Given the description of an element on the screen output the (x, y) to click on. 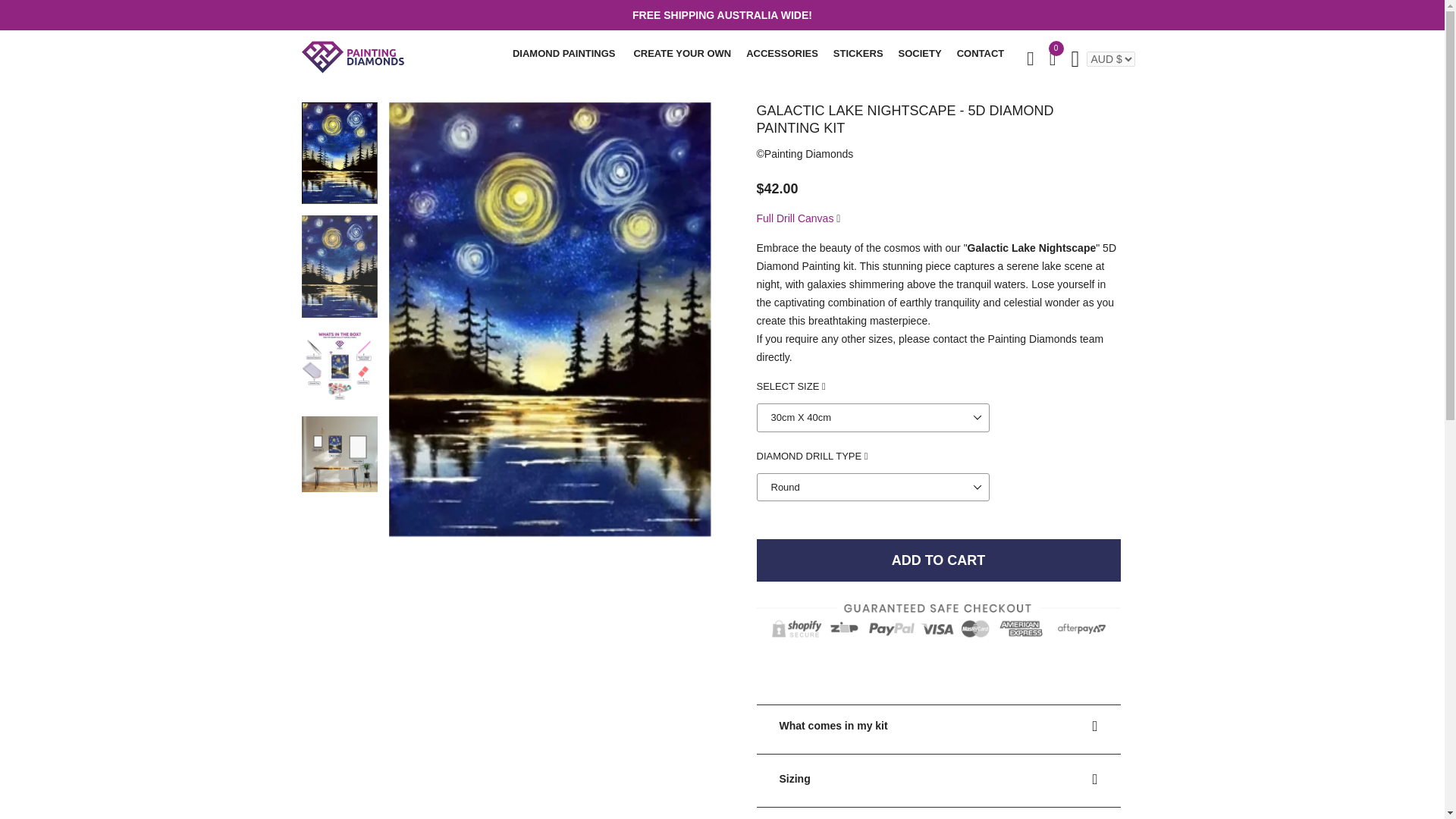
Painting Diamonds (808, 153)
